Given the description of an element on the screen output the (x, y) to click on. 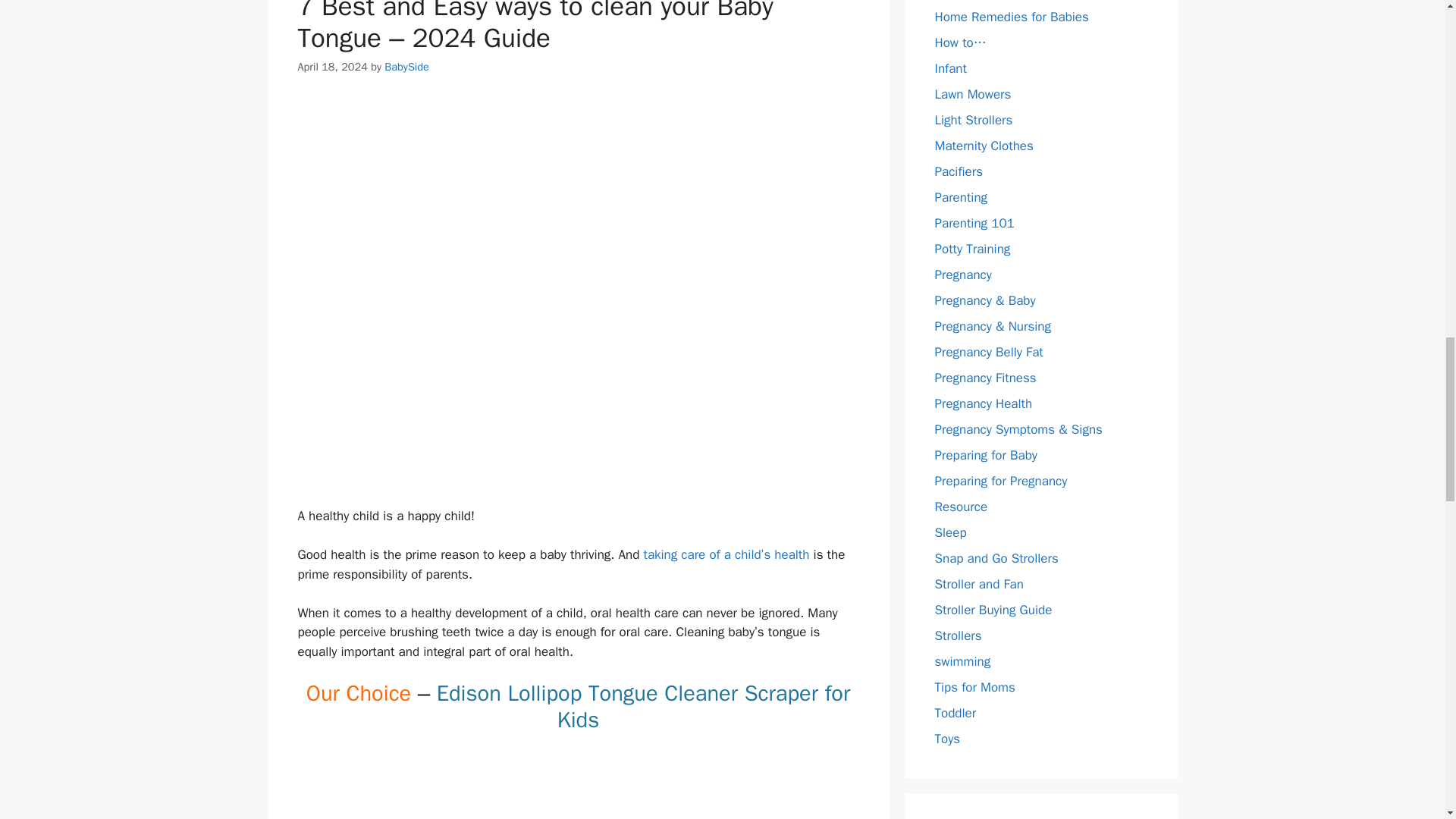
BabySide (406, 66)
View all posts by BabySide (406, 66)
